Given the description of an element on the screen output the (x, y) to click on. 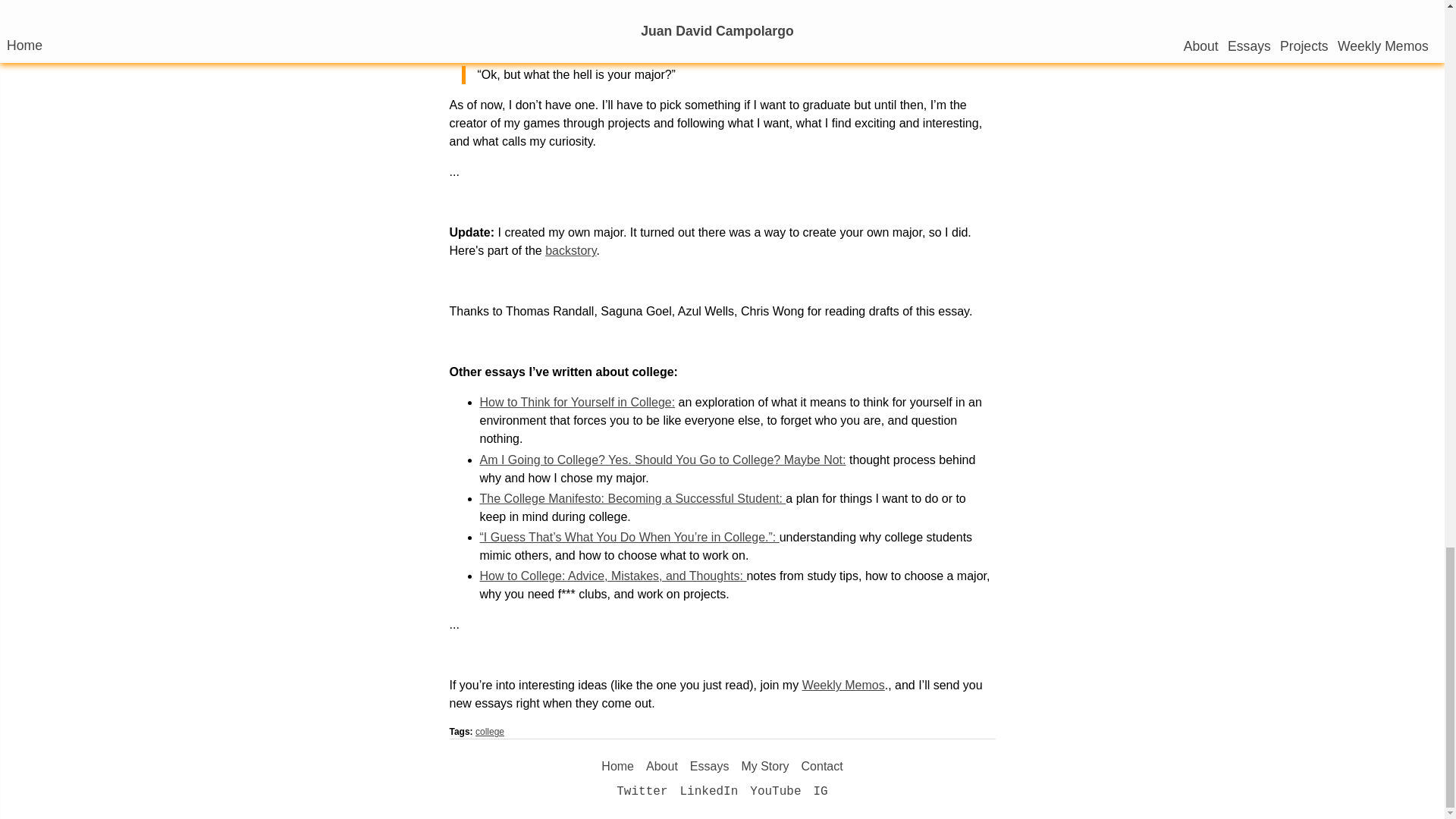
YouTube (775, 791)
backstory (569, 250)
Weekly Memos (843, 684)
How to Think for Yourself in College: (577, 401)
Twitter (641, 791)
How to College: Advice, Mistakes, and Thoughts: (612, 575)
IG (821, 791)
About (662, 766)
Essays (709, 766)
The College Manifesto: Becoming a Successful Student: (632, 498)
